Given the description of an element on the screen output the (x, y) to click on. 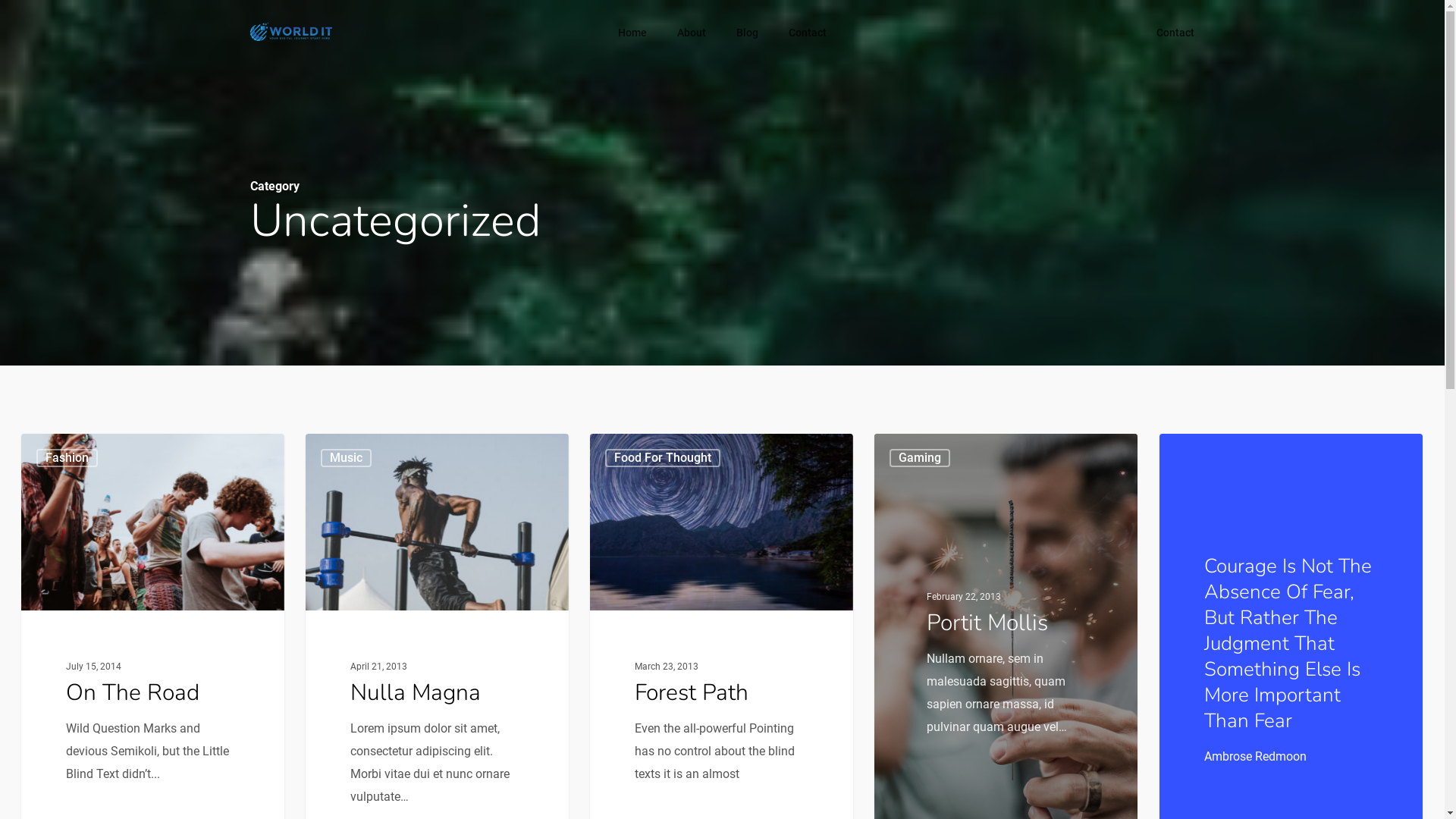
Nulla metus metus ullamcorper Element type: text (1097, 682)
Fashion Element type: text (823, 599)
Fashion Element type: text (66, 457)
Luctus non massa fusce ac turpis Element type: text (1097, 654)
Uncategorized Element type: text (840, 743)
Home Element type: text (632, 32)
Nulla Magna Element type: text (415, 692)
Gaming Element type: text (919, 457)
About Element type: text (691, 32)
Quis ligula lacinia aliquet mauris Element type: text (1097, 711)
Forest Path Element type: text (691, 692)
Music Element type: text (818, 685)
Music Element type: text (345, 457)
Contact Element type: text (807, 32)
Pellentesque nibh aenean quam Element type: text (1097, 625)
Conubia nostra per inceptos Element type: text (1097, 596)
Food For Thought Element type: text (662, 457)
Food for thought Element type: text (847, 628)
On The Road Element type: text (132, 692)
Blog Element type: text (747, 32)
Gaming Element type: text (823, 657)
Portit Mollis Element type: text (987, 621)
Contact Element type: text (1175, 32)
Tips Element type: text (813, 714)
